Given the description of an element on the screen output the (x, y) to click on. 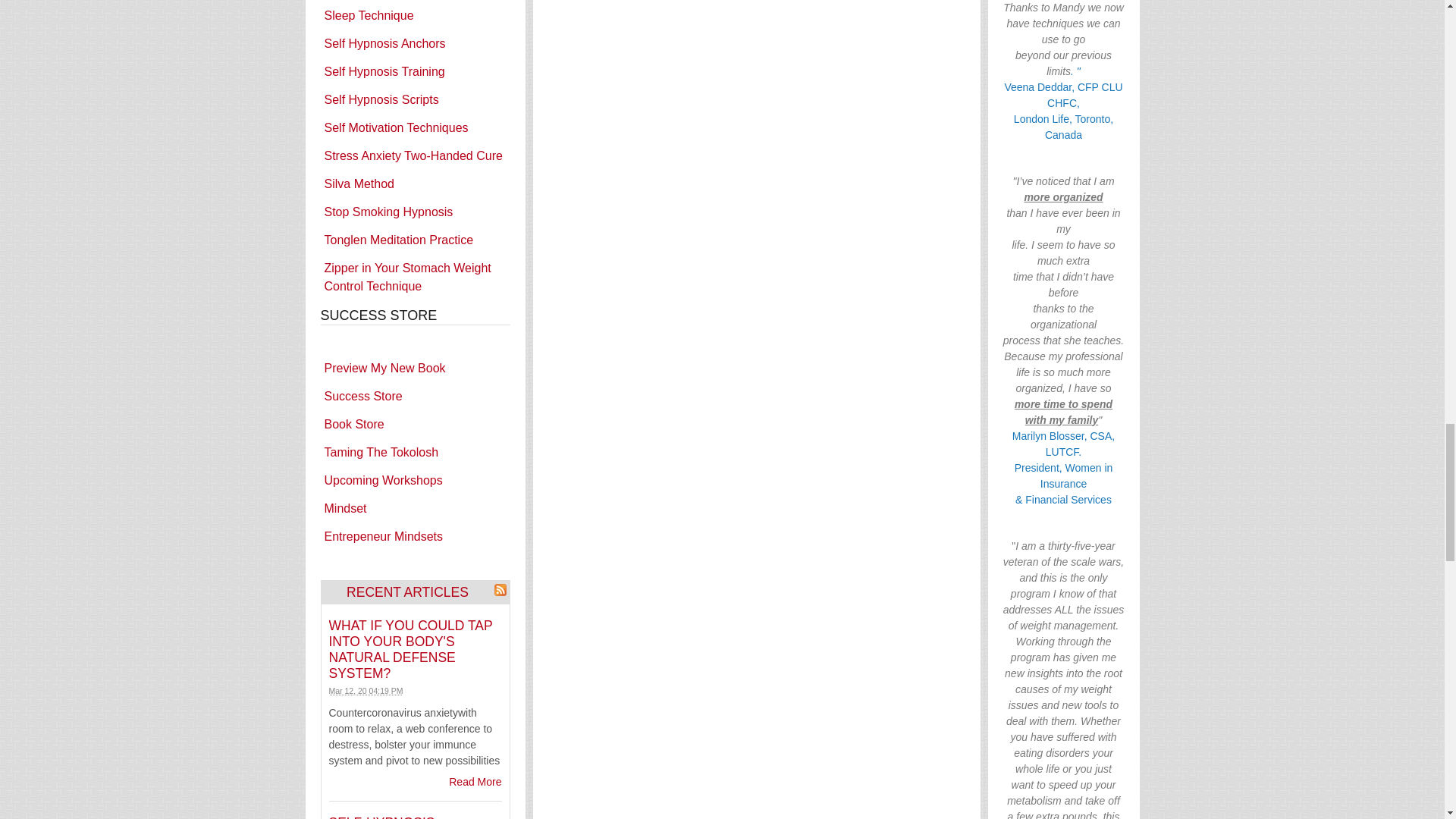
2020-03-12T16:19:43-0400 (366, 690)
